Given the description of an element on the screen output the (x, y) to click on. 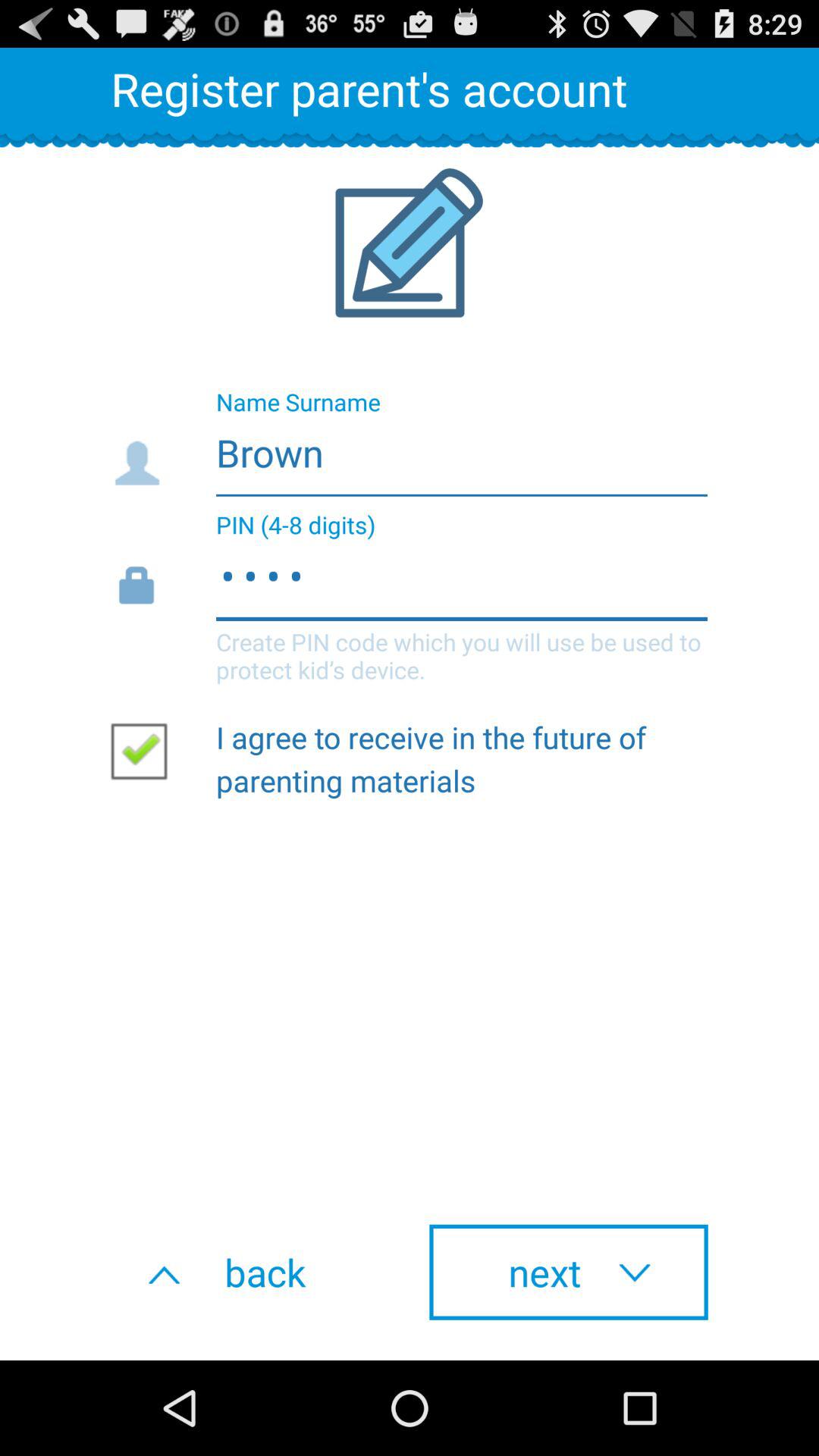
press the icon next to the back icon (568, 1272)
